Given the description of an element on the screen output the (x, y) to click on. 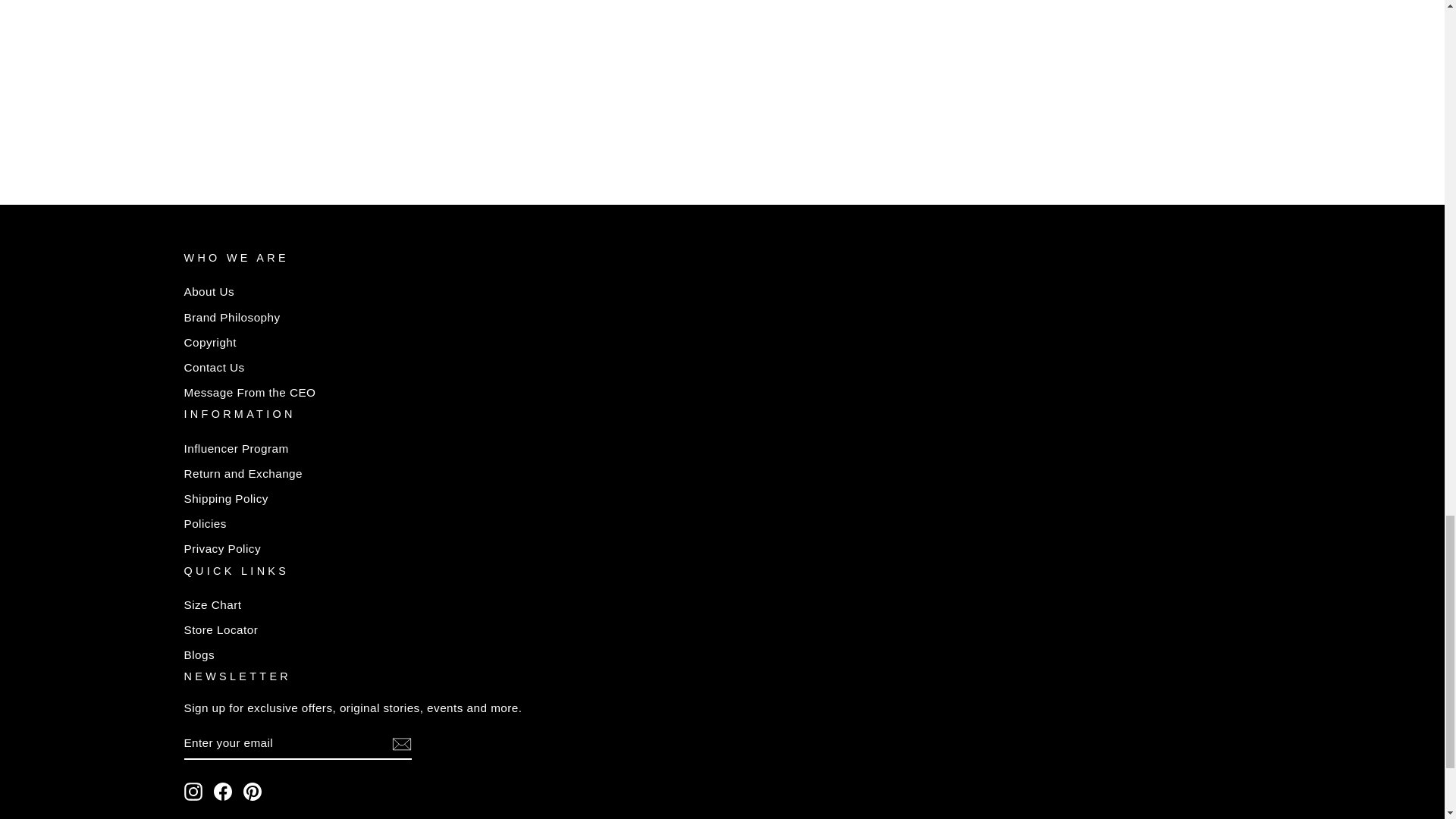
Malbus on Facebook (222, 791)
Malbus on Instagram (192, 791)
Malbus on Pinterest (251, 791)
